Given the description of an element on the screen output the (x, y) to click on. 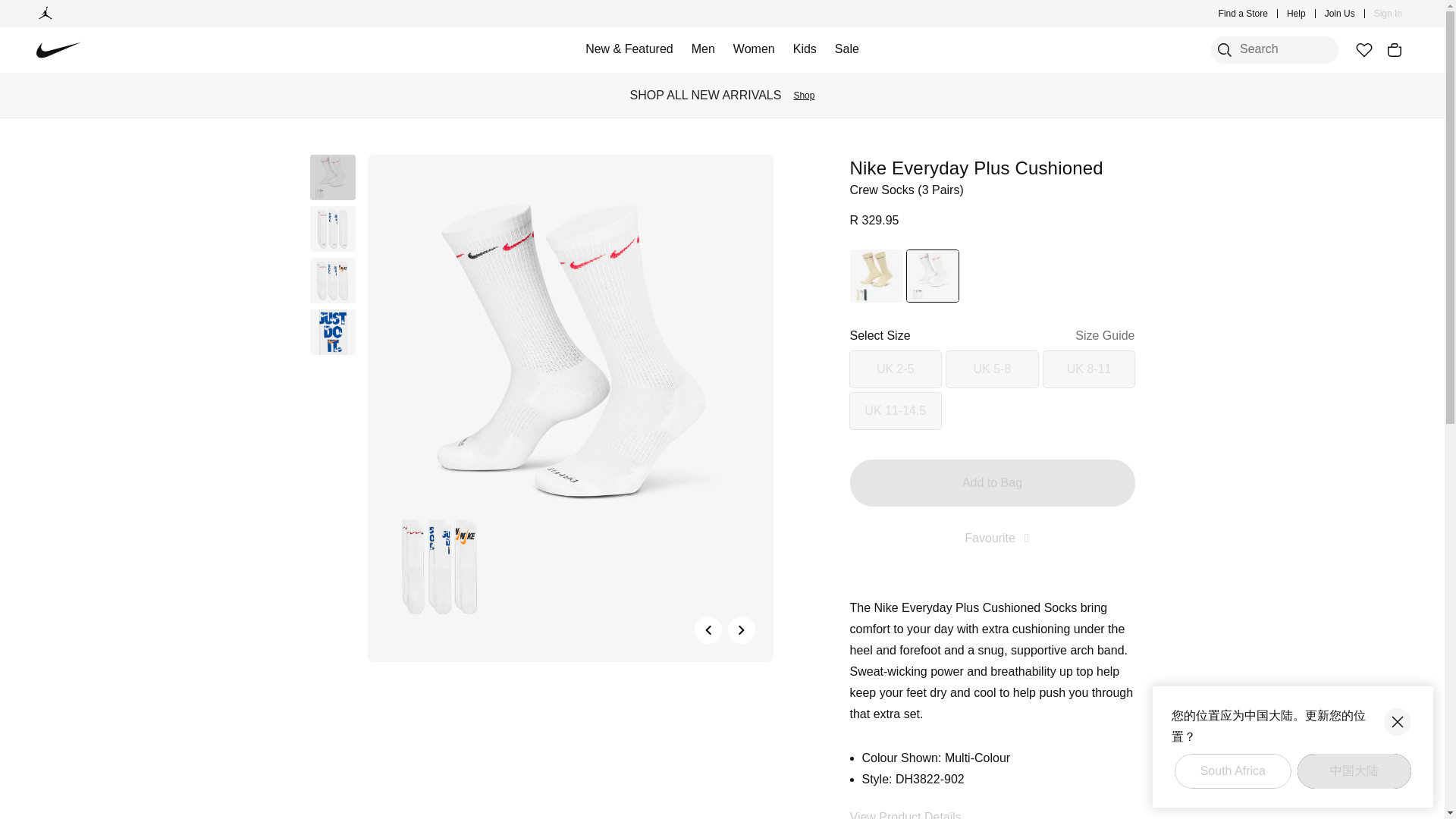
Bag Items: 0 (1393, 49)
Sign In (1388, 13)
Favourites (1364, 49)
Help (1296, 13)
Join Us (1339, 13)
Find a Store (1243, 13)
